Given the description of an element on the screen output the (x, y) to click on. 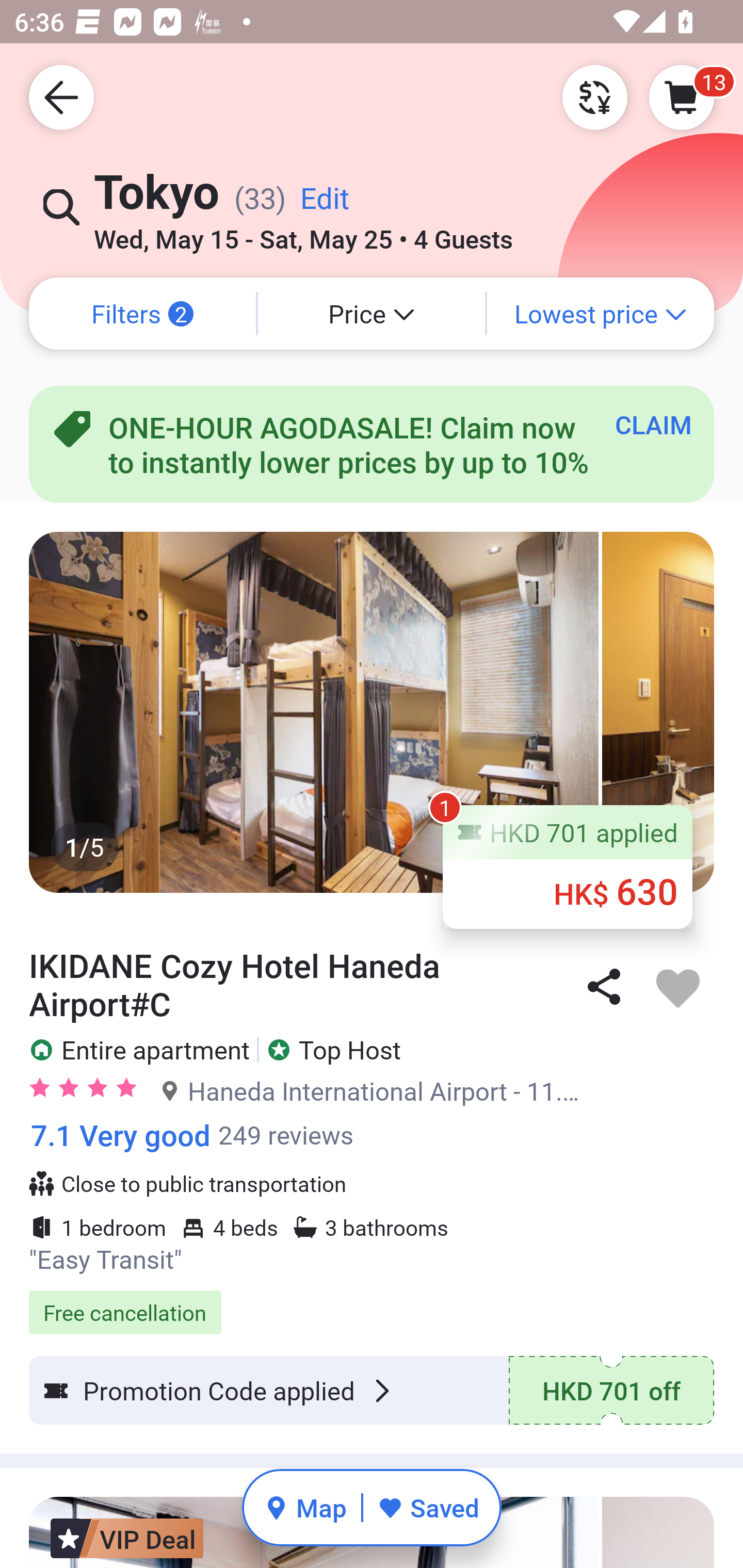
Wed, May 15 - Sat, May 25 • 4 Guests (302, 232)
Filters 2 (141, 313)
Price (371, 313)
Lowest price (600, 313)
CLAIM (653, 424)
1/5 (371, 711)
HKD 701 applied ‪HK$ 630 1 (567, 866)
Free cancellation (371, 1302)
Promotion Code applied HKD 701 off (371, 1389)
Map (305, 1507)
Saved (428, 1507)
VIP Deal (126, 1531)
